Given the description of an element on the screen output the (x, y) to click on. 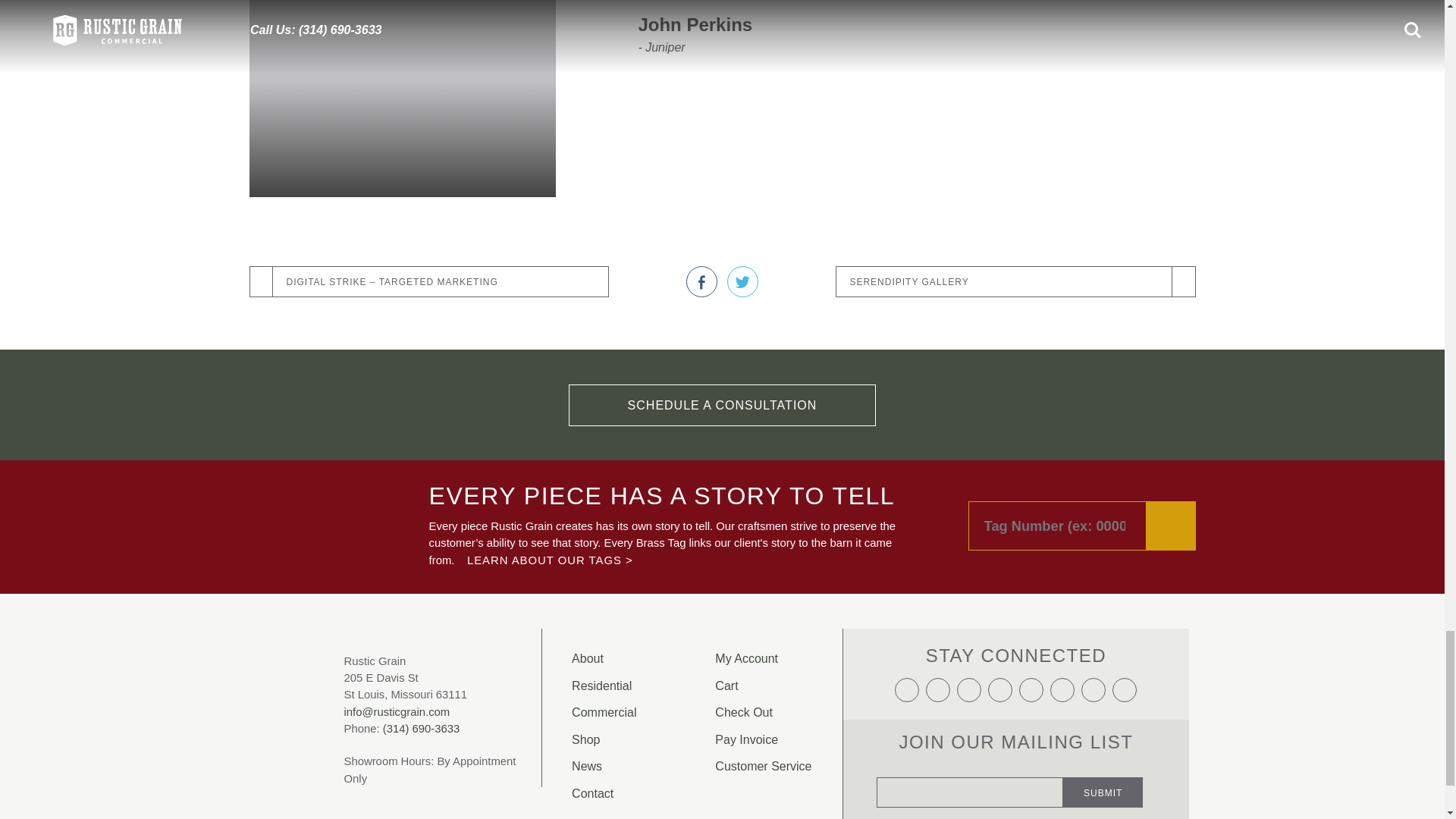
Tag Search (1081, 492)
Search (1170, 492)
Search (1170, 492)
Submit (1102, 758)
SERENDIPITY GALLERY (1014, 249)
